Given the description of an element on the screen output the (x, y) to click on. 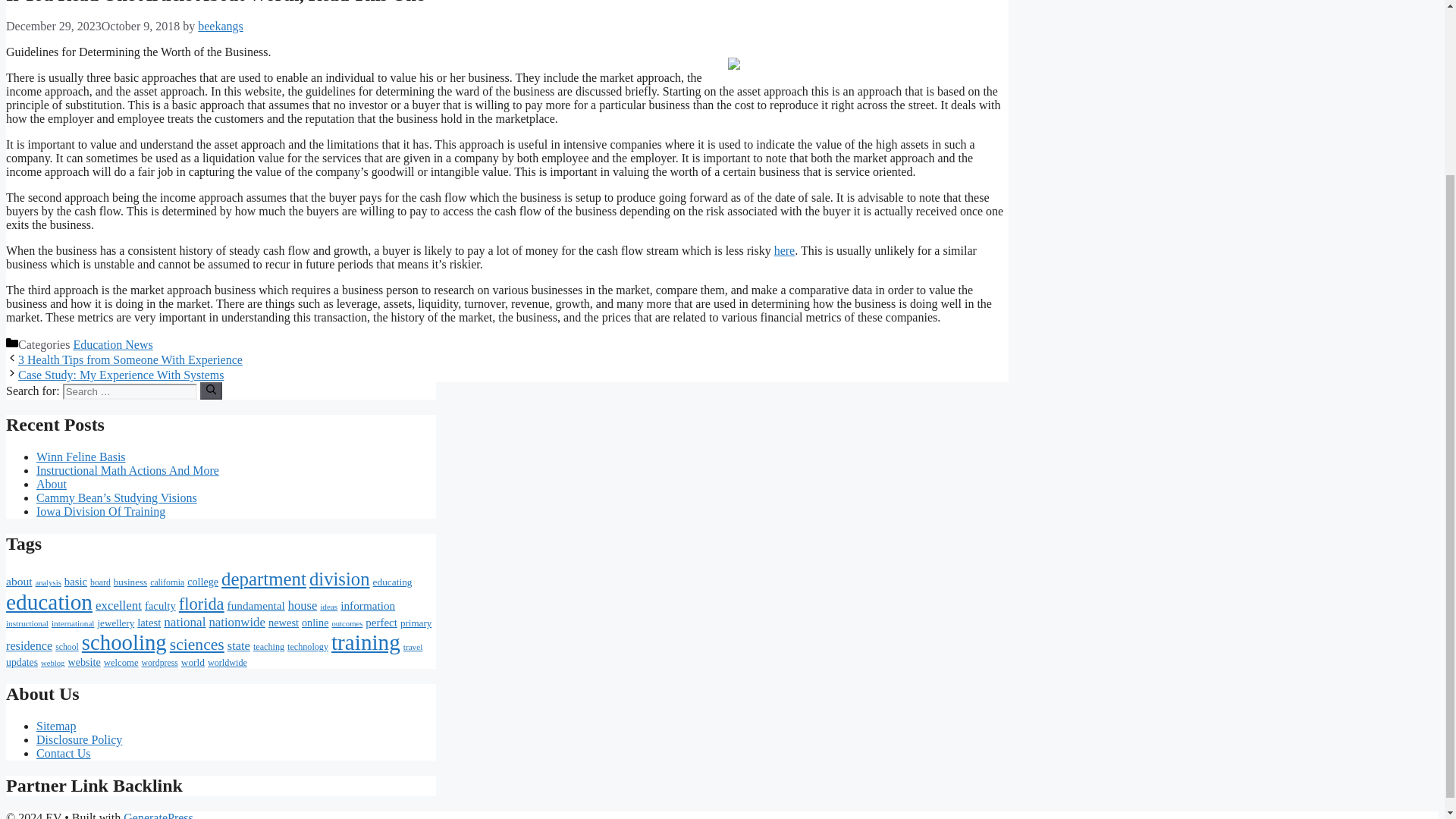
california (166, 583)
basic (75, 581)
3 Health Tips from Someone With Experience (130, 359)
education (49, 601)
college (202, 581)
about (18, 581)
board (100, 583)
florida (201, 603)
Education News (112, 344)
ideas (328, 605)
Search for: (129, 391)
faculty (160, 605)
Iowa Division Of Training (100, 511)
house (302, 605)
instructional (26, 623)
